Given the description of an element on the screen output the (x, y) to click on. 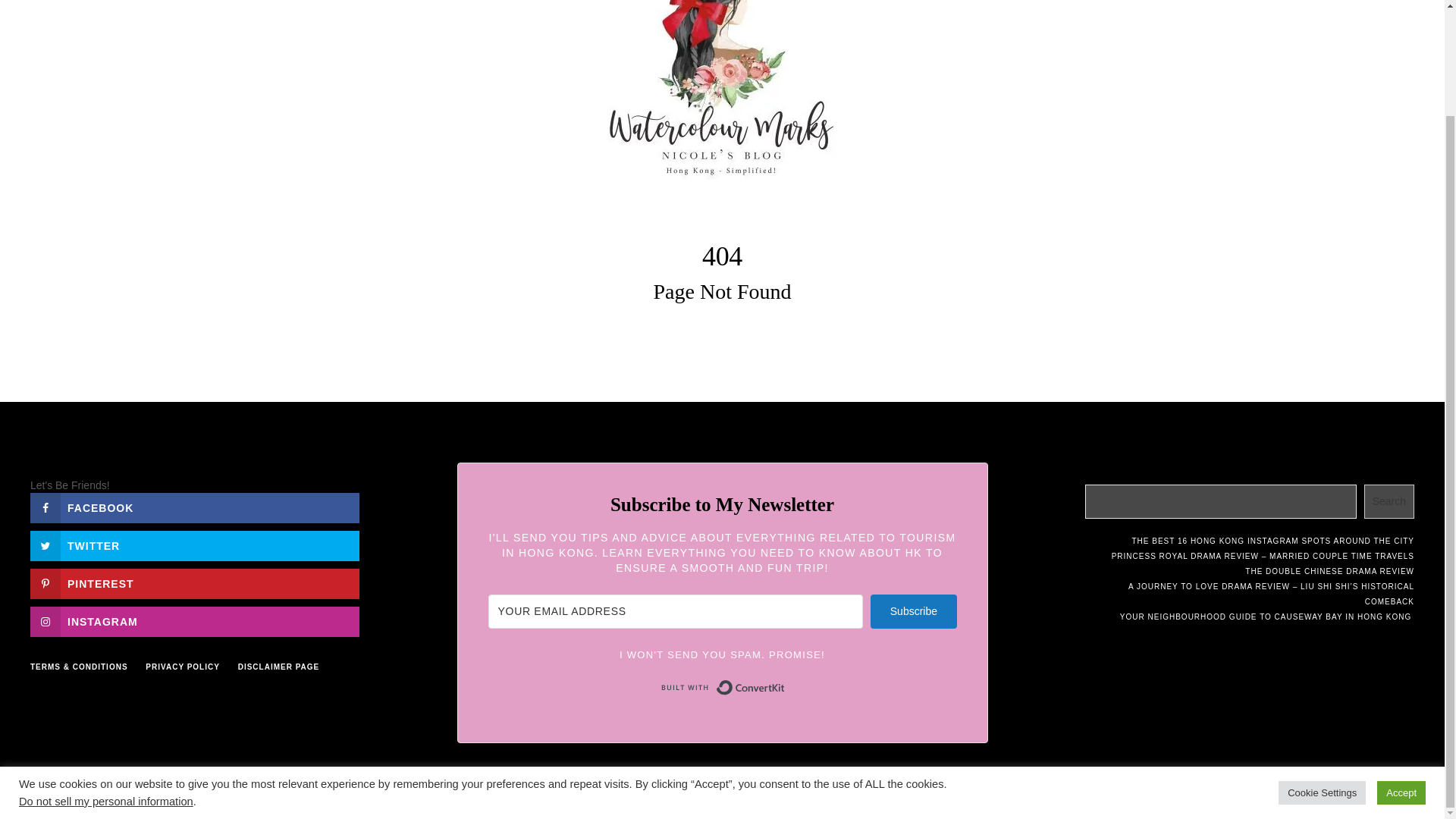
Follow on Facebook (194, 508)
CRESSIDA (678, 788)
THE BEST 16 HONG KONG INSTAGRAM SPOTS AROUND THE CITY (1272, 541)
Do not sell my personal information (105, 677)
Follow on Twitter (194, 545)
THE DOUBLE CHINESE DRAMA REVIEW (1328, 571)
Subscribe (913, 611)
Cookie Settings (1321, 668)
Follow on Pinterest (194, 583)
DISCLAIMER PAGE (279, 666)
TWITTER (194, 545)
PINTEREST (194, 583)
FACEBOOK (194, 508)
INSTAGRAM (194, 621)
Accept (1401, 668)
